Given the description of an element on the screen output the (x, y) to click on. 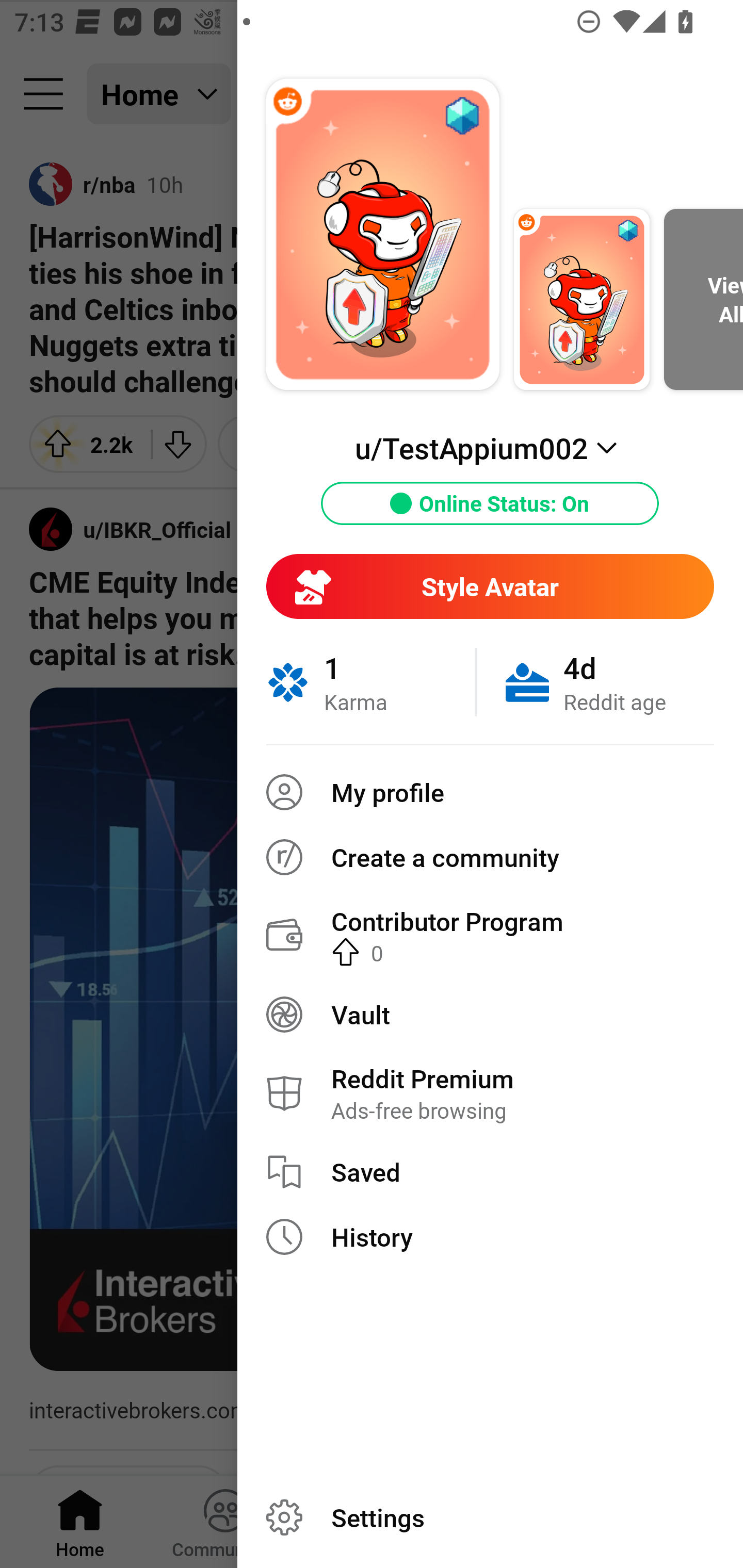
u/TestAppium002 (489, 447)
Online Status: On (489, 503)
Style Avatar (489, 586)
1 Karma 1 Karma (369, 681)
My profile (490, 792)
Create a community (490, 856)
Contributor Program Contributor Program 0 (490, 935)
Vault (490, 1014)
Saved (490, 1171)
History (490, 1237)
Settings (490, 1517)
